Given the description of an element on the screen output the (x, y) to click on. 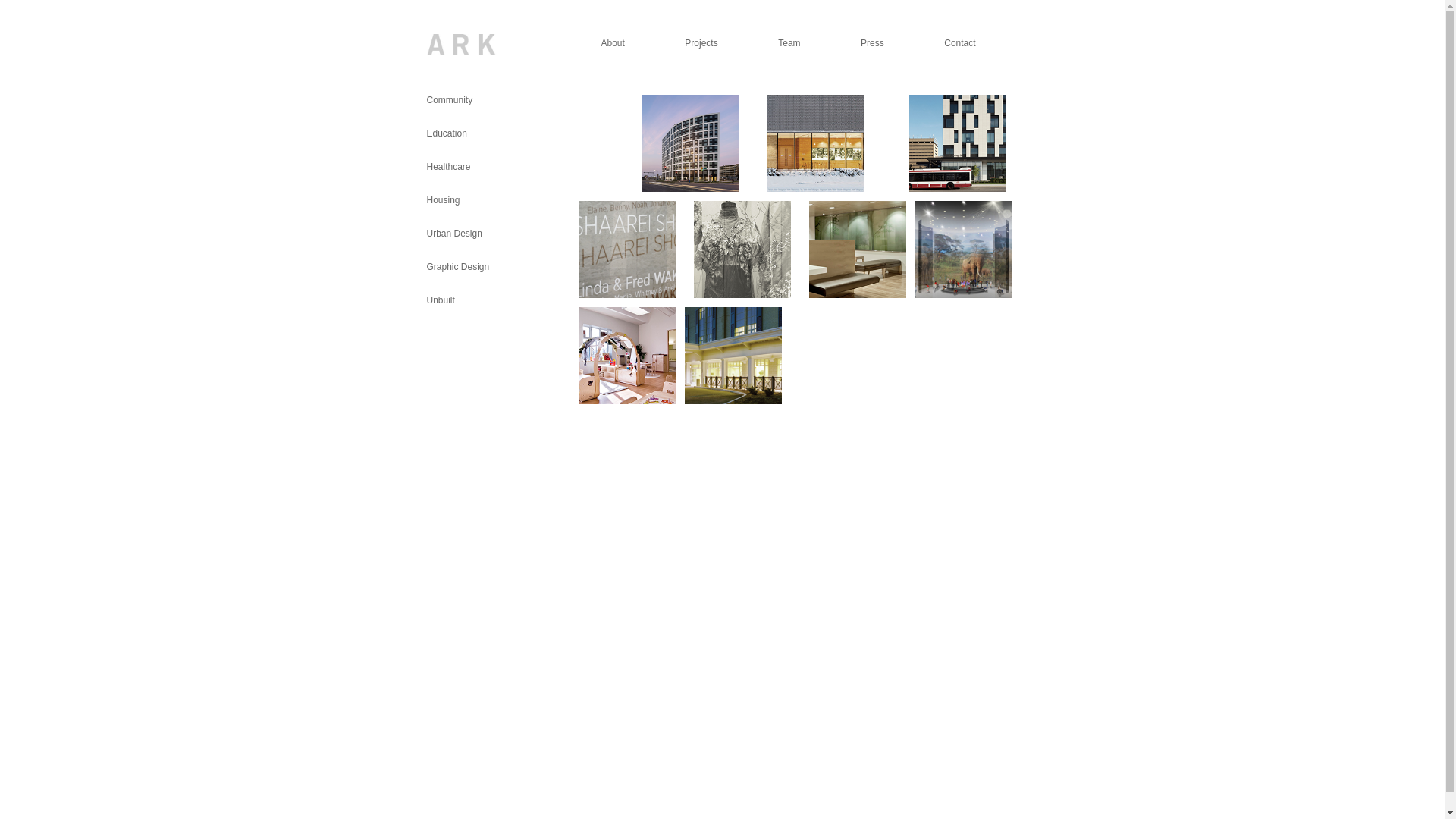
Press Element type: text (872, 42)
Team Element type: text (789, 42)
Community Element type: text (449, 99)
Projects Element type: text (700, 43)
About Element type: text (612, 42)
Education Element type: text (446, 133)
Unbuilt Element type: text (440, 299)
Contact Element type: text (959, 42)
Graphic Design Element type: text (457, 266)
Healthcare Element type: text (448, 166)
Urban Design Element type: text (453, 233)
Housing Element type: text (442, 199)
